Given the description of an element on the screen output the (x, y) to click on. 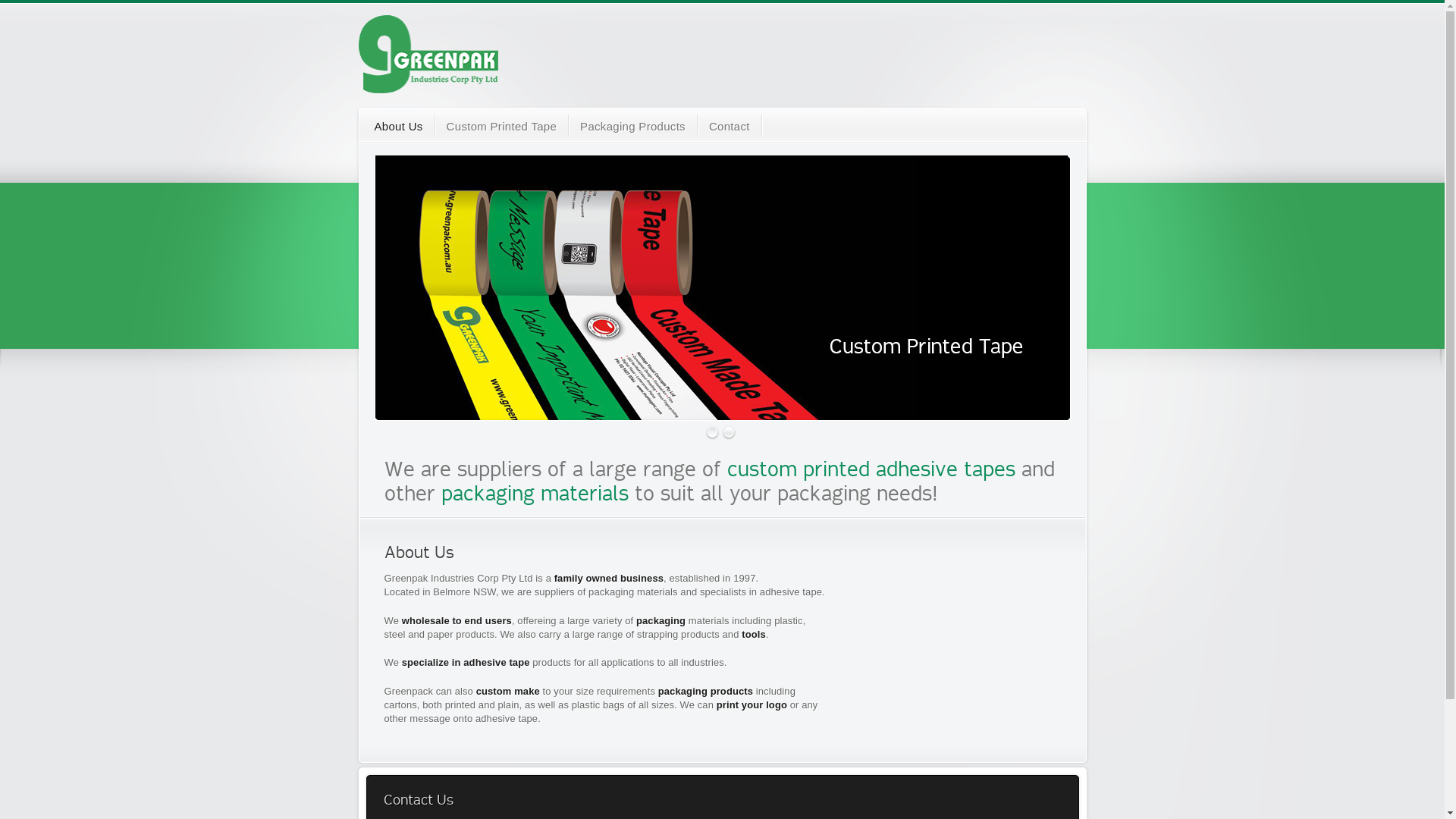
Custom Printed Tape Element type: text (501, 127)
1 Element type: text (713, 432)
About Us Element type: text (398, 127)
2 Element type: text (729, 432)
Contact Element type: text (729, 127)
Packaging Products Element type: text (632, 127)
